Given the description of an element on the screen output the (x, y) to click on. 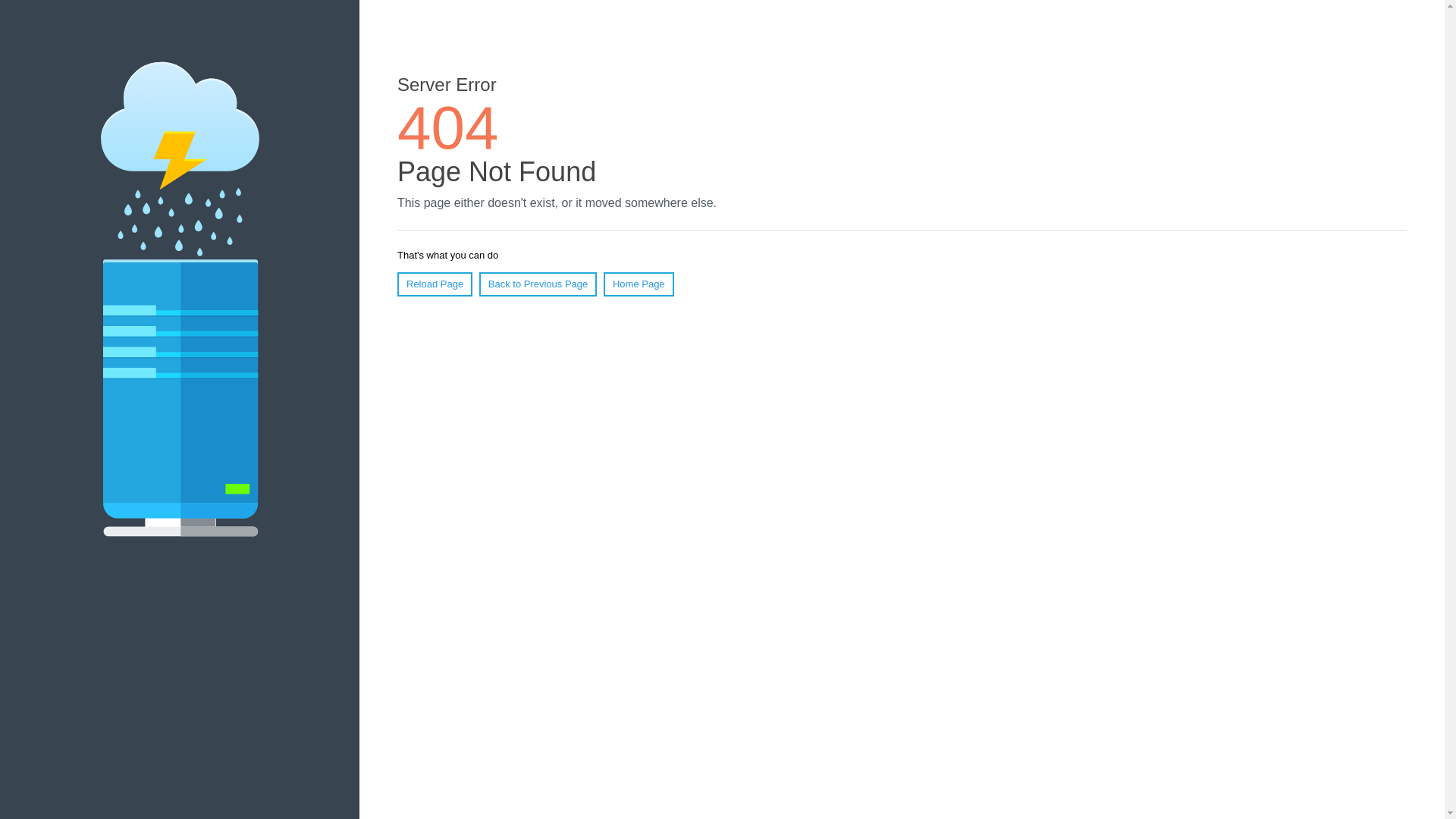
Back to Previous Page Element type: text (538, 284)
Reload Page Element type: text (434, 284)
Home Page Element type: text (638, 284)
